Given the description of an element on the screen output the (x, y) to click on. 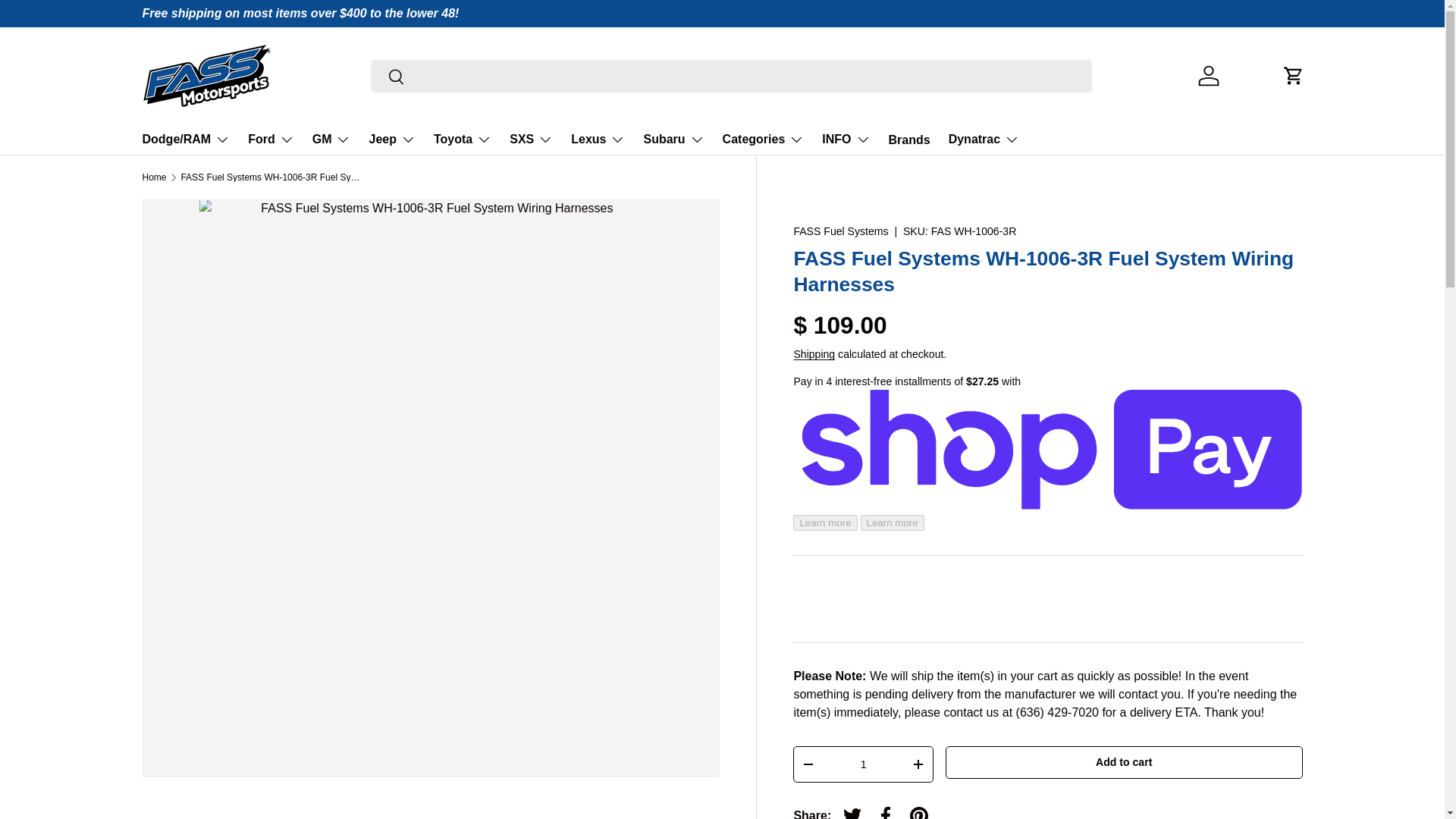
Search (387, 76)
1 (862, 764)
Ford (270, 139)
Skip to content (68, 21)
Log in (1208, 75)
Cart (1293, 75)
